Given the description of an element on the screen output the (x, y) to click on. 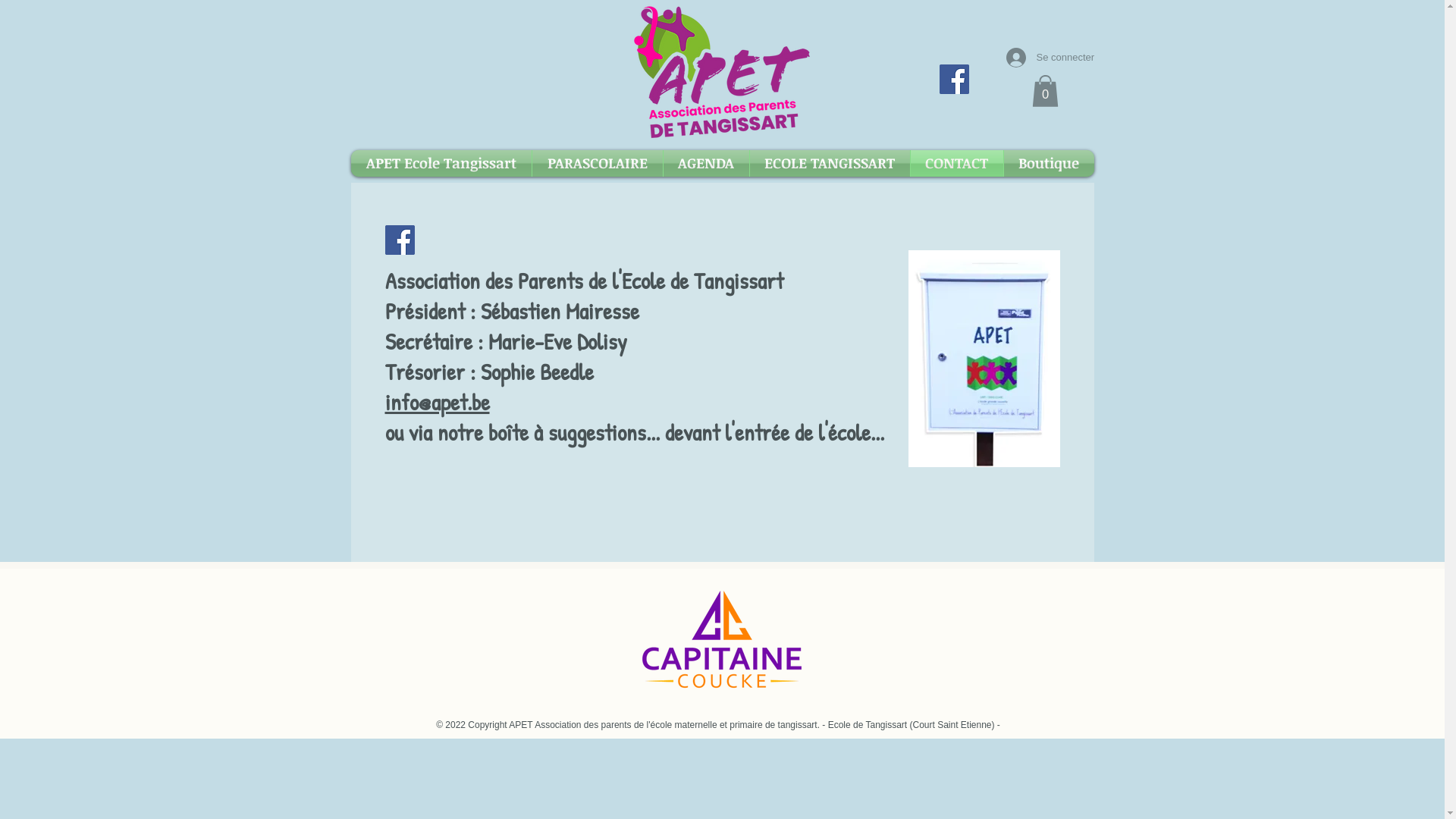
ECOLE TANGISSART Element type: text (829, 163)
Boutique Element type: text (1049, 163)
Se connecter Element type: text (1039, 57)
0 Element type: text (1044, 90)
APET Ecole Tangissart Element type: text (440, 163)
PARASCOLAIRE Element type: text (597, 163)
info@apet.be Element type: text (437, 401)
CONTACT Element type: text (956, 163)
AGENDA Element type: text (705, 163)
